Given the description of an element on the screen output the (x, y) to click on. 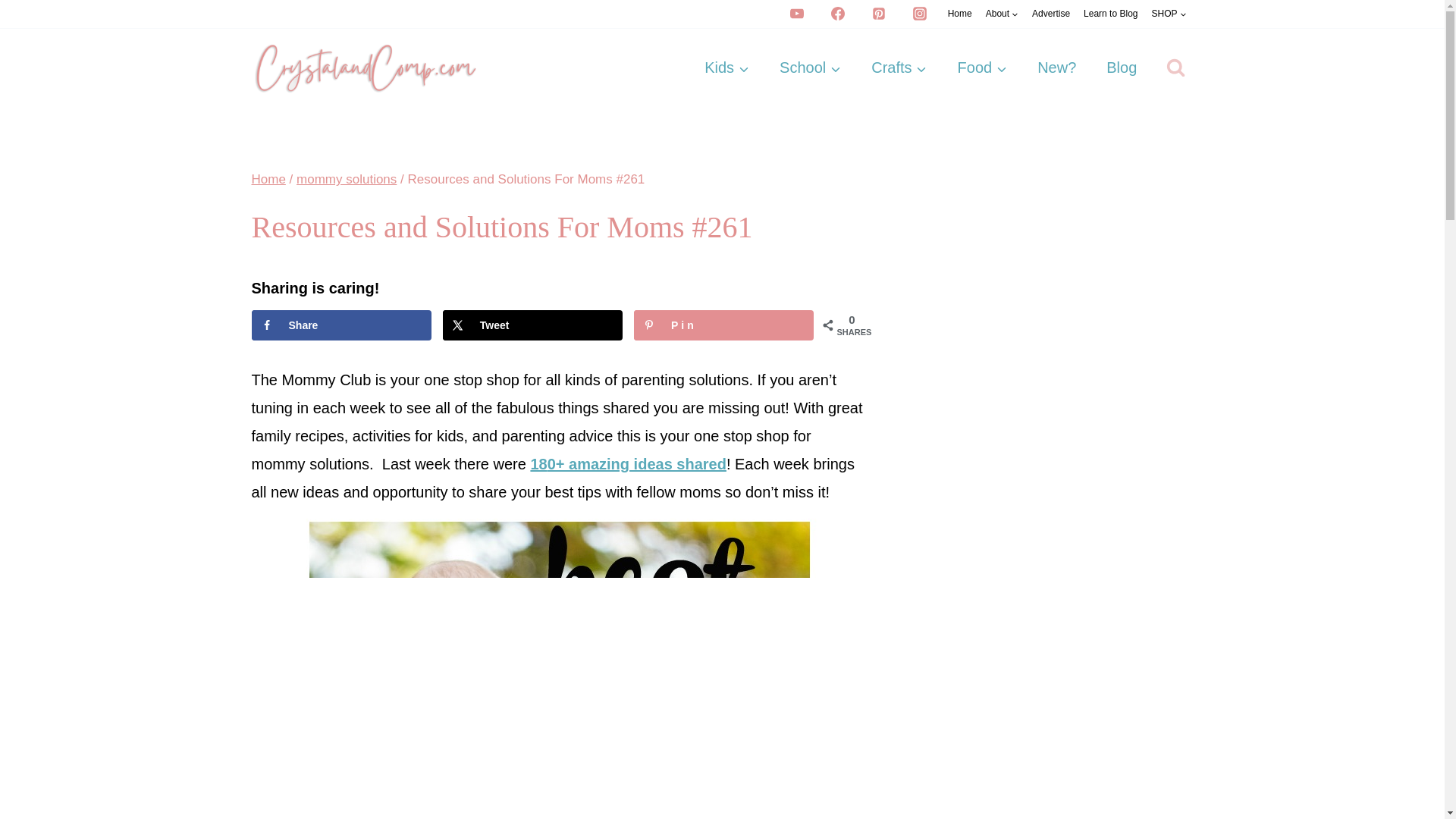
Easy Recipes  (982, 67)
Kids (726, 67)
Learn to Blog (1110, 13)
Home (959, 13)
School (810, 67)
SHOP (1168, 13)
teach children at home (810, 67)
Advertise (1051, 13)
Activities for Kids  (726, 67)
About (1001, 13)
